Given the description of an element on the screen output the (x, y) to click on. 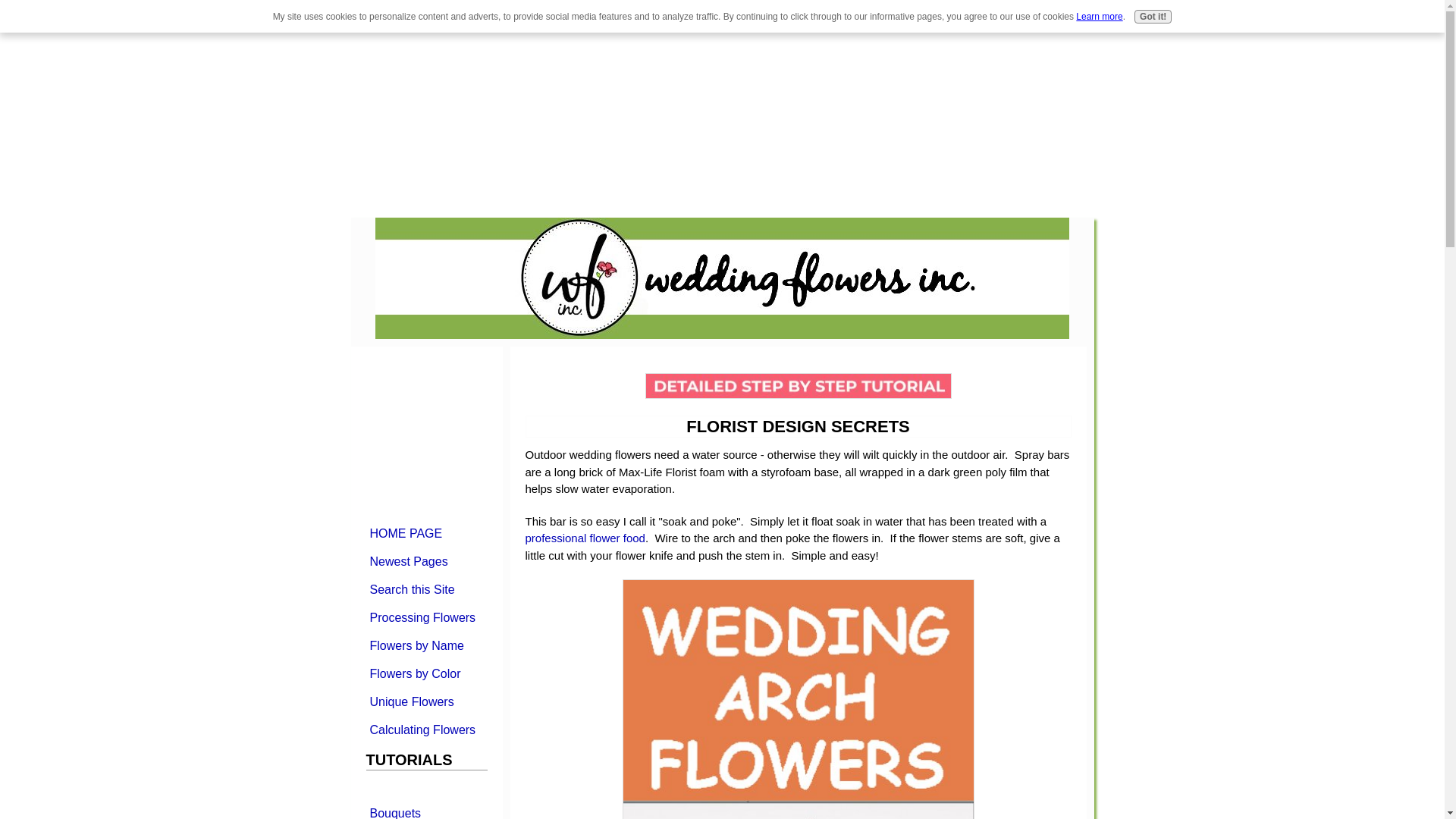
professional flower food (584, 537)
Bouquets (425, 809)
Unique Flowers (425, 701)
Flowers by Name (425, 645)
Calculating Flowers (425, 729)
Advertisement (127, 106)
Flowers by Color (425, 673)
Processing Flowers (425, 617)
HOME PAGE (425, 533)
Newest Pages (425, 561)
